Given the description of an element on the screen output the (x, y) to click on. 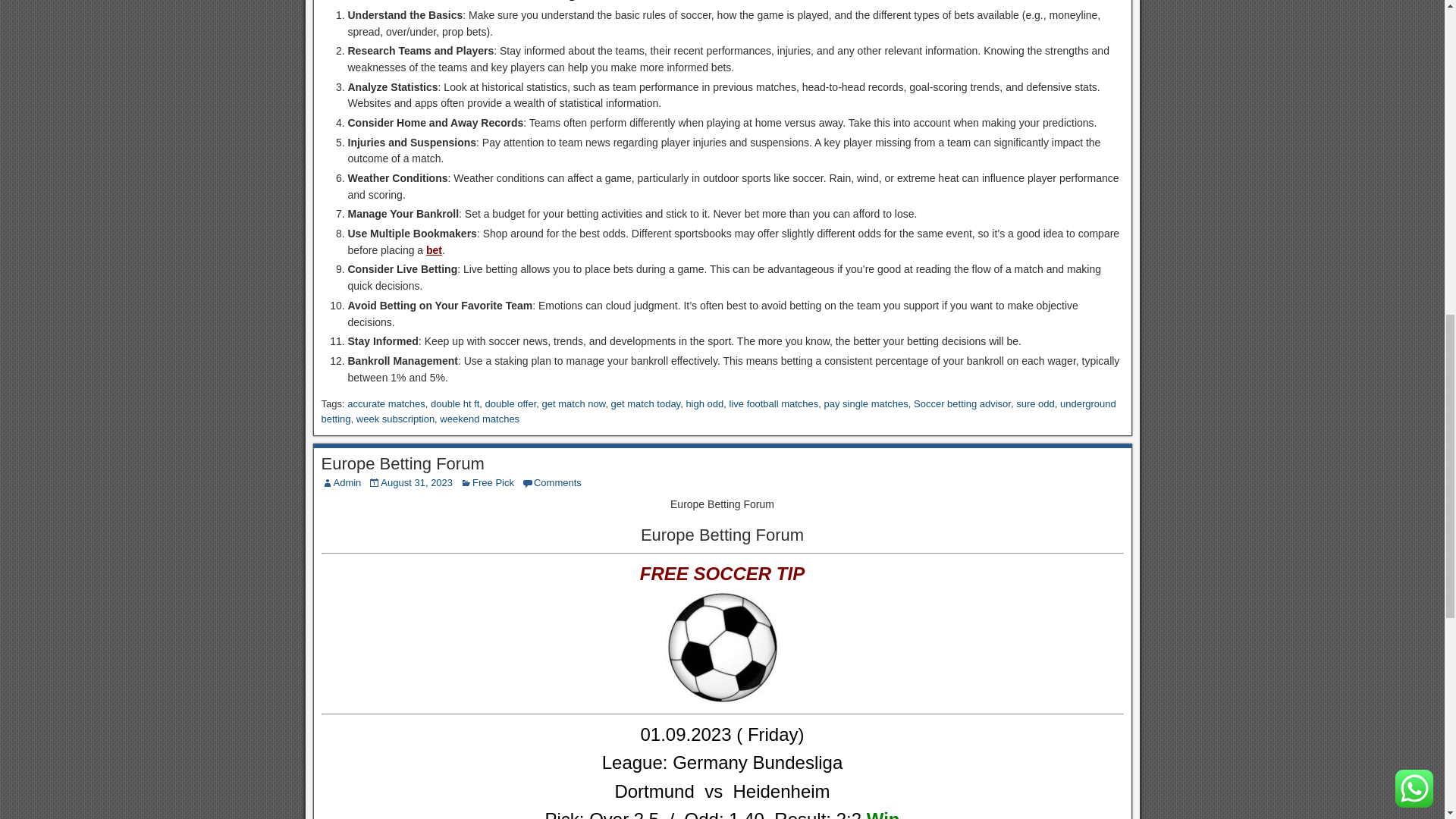
get match today (646, 403)
live football matches (773, 403)
bet (434, 250)
weekend matches (479, 419)
sure odd (1035, 403)
August 31, 2023 (416, 482)
accurate matches (386, 403)
get match now (573, 403)
week subscription (394, 419)
high odd (704, 403)
Free Pick (492, 482)
Parva liga (721, 791)
pay single matches (866, 403)
Admin (347, 482)
